Given the description of an element on the screen output the (x, y) to click on. 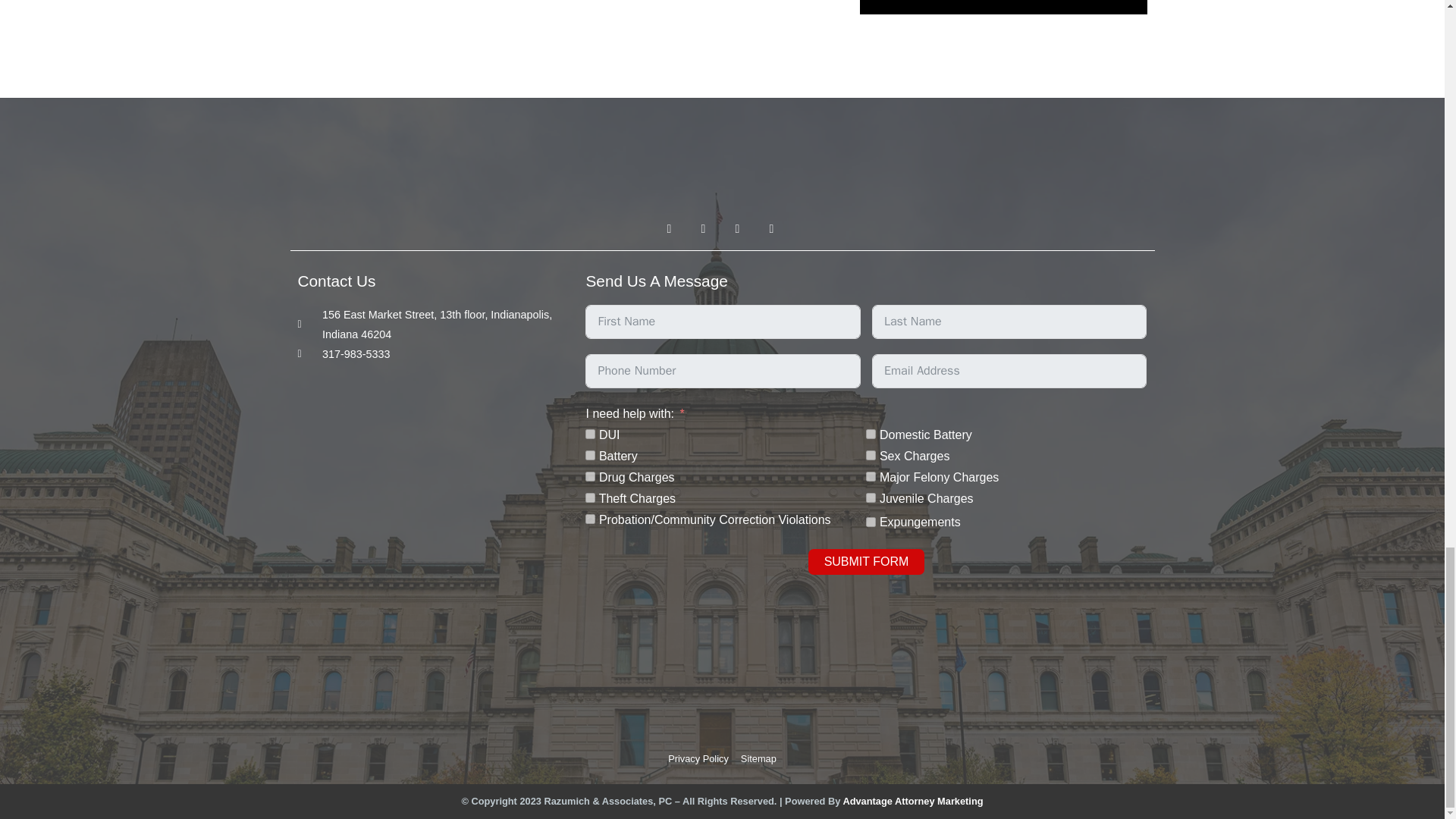
Drug Charges (590, 476)
Battery (590, 455)
DUI (590, 433)
Major Felony Charges (871, 476)
Domestic Battery (871, 433)
Sex Charges (871, 455)
